Given the description of an element on the screen output the (x, y) to click on. 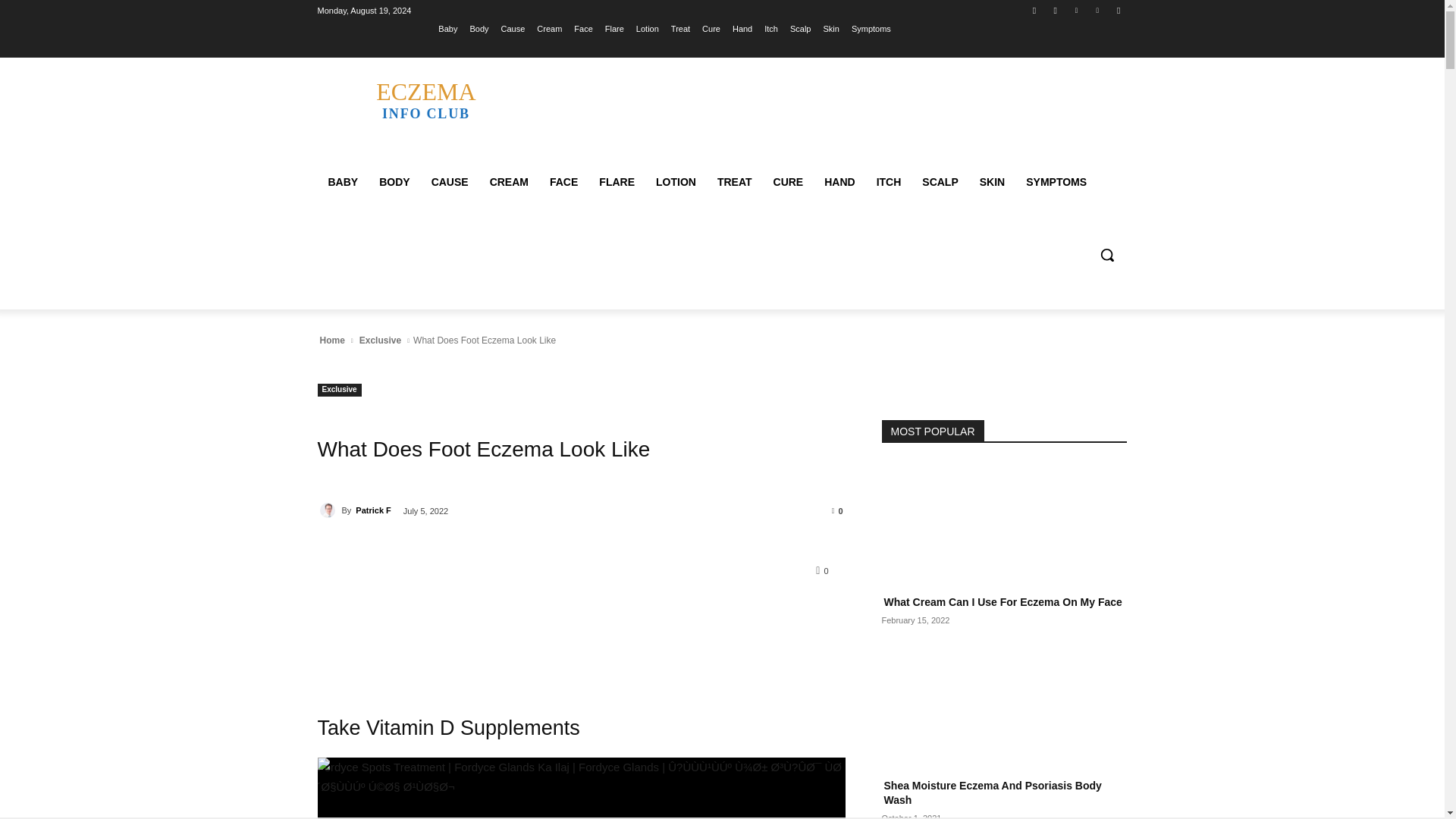
Vimeo (1097, 9)
Scalp (800, 28)
Youtube (1117, 9)
Patrick F (328, 509)
Treat (680, 28)
Lotion (647, 28)
Facebook (1034, 9)
Twitter (1075, 9)
Baby (447, 28)
Cause (512, 28)
